Given the description of an element on the screen output the (x, y) to click on. 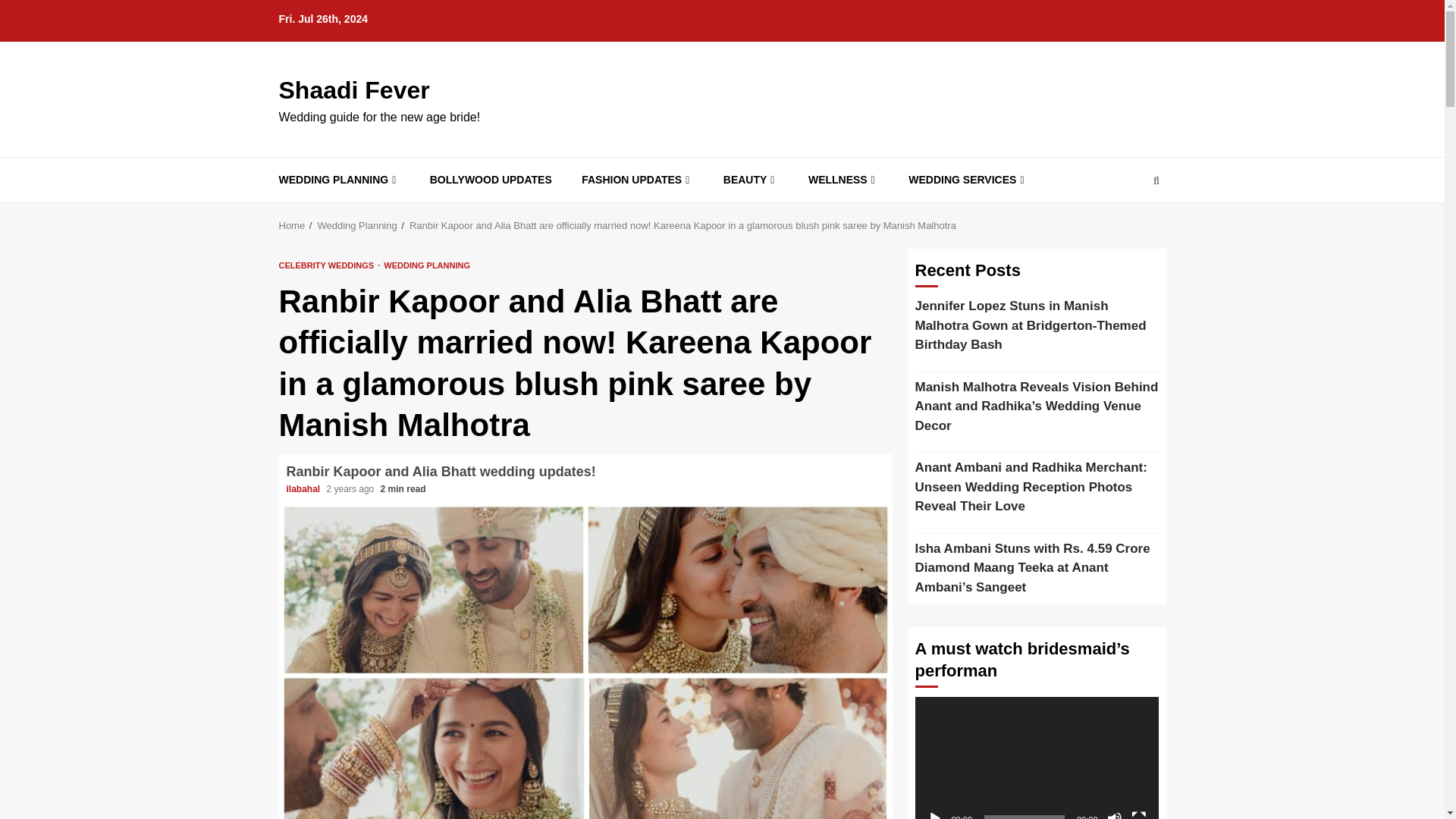
BOLLYWOOD UPDATES (490, 179)
Fullscreen (1139, 815)
Shaadi Fever (354, 90)
Wedding Planning (356, 225)
BEAUTY (750, 179)
Play (934, 815)
CELEBRITY WEDDINGS (329, 265)
Mute (1114, 815)
FASHION UPDATES (636, 179)
WEDDING SERVICES (967, 179)
WEDDING PLANNING (427, 265)
ilabahal (304, 489)
WEDDING PLANNING (339, 179)
Search (1126, 225)
